Given the description of an element on the screen output the (x, y) to click on. 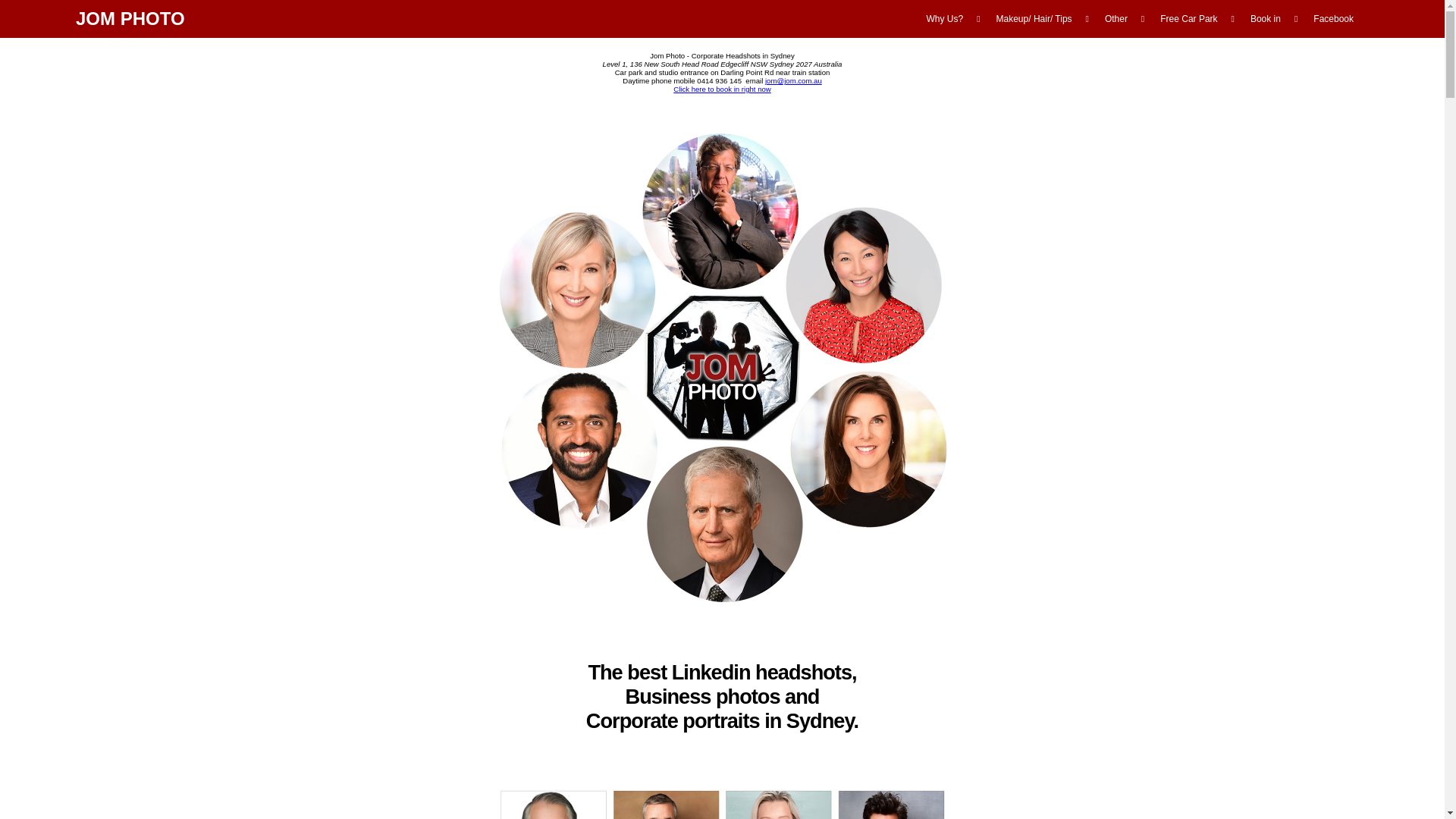
Free Car Park  Element type: text (1190, 18)
JOM PHOTO Element type: text (130, 18)
Makeup/ Hair/ Tips  Element type: text (1035, 18)
Facebook Element type: text (1333, 18)
Other  Element type: text (1117, 18)
Why Us?  Element type: text (946, 18)
Book in  Element type: text (1266, 18)
jom@jom.com.au Element type: text (793, 80)
Click here to book in right now Element type: text (722, 88)
